Given the description of an element on the screen output the (x, y) to click on. 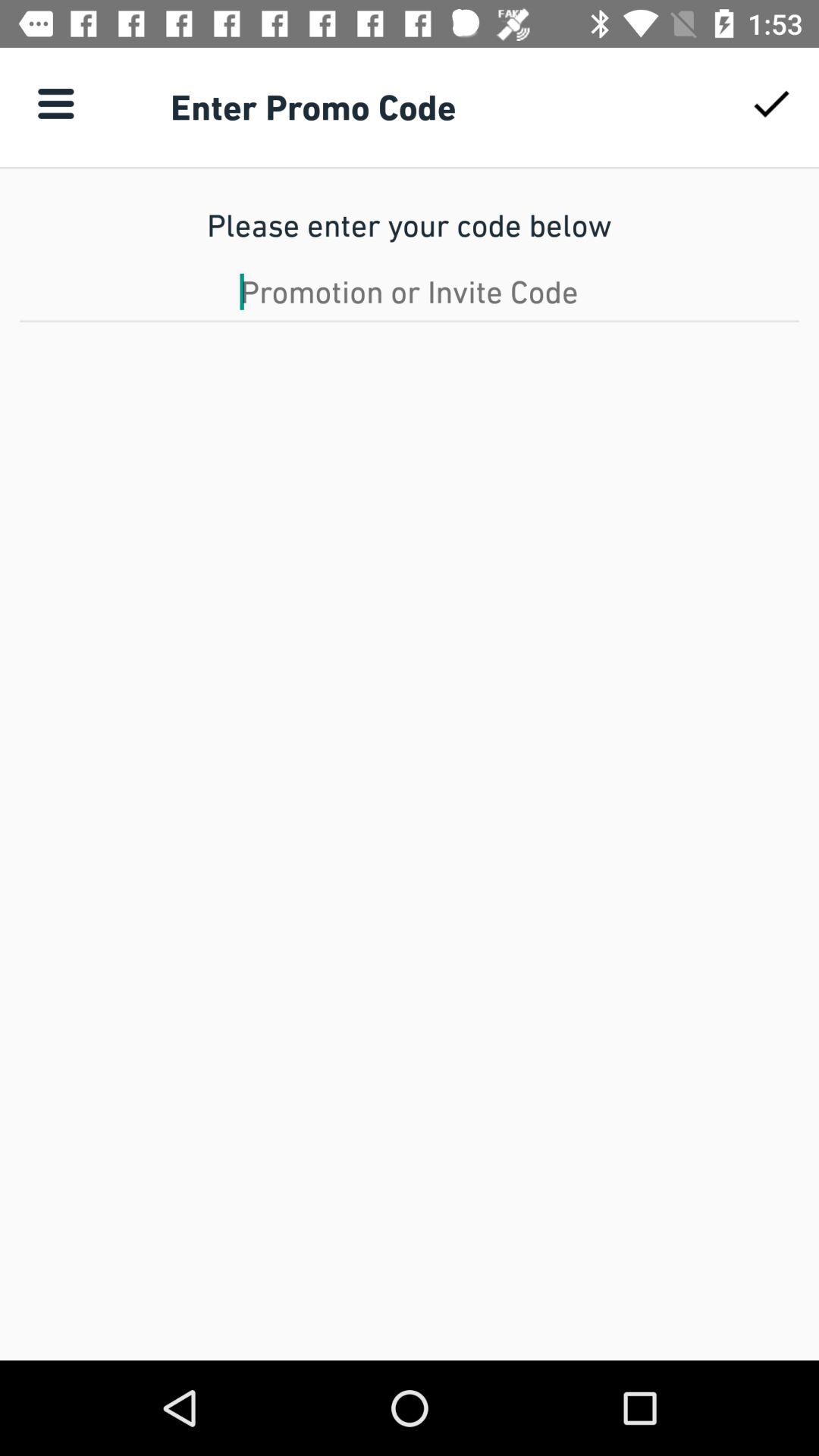
press icon next to enter promo code item (771, 103)
